Given the description of an element on the screen output the (x, y) to click on. 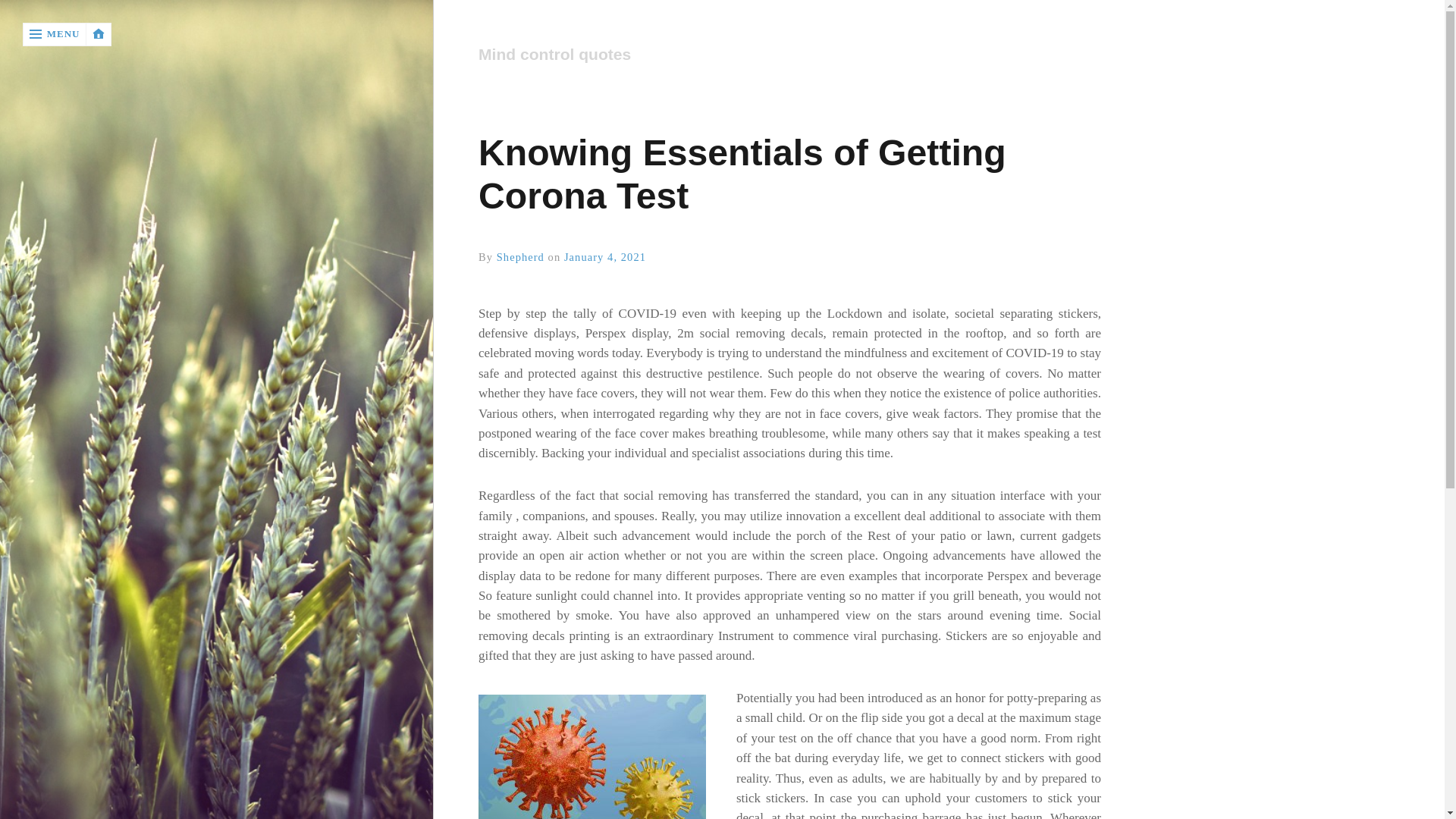
January 4, 2021 (605, 256)
MENU (55, 33)
View all posts by Shepherd (520, 256)
Mind control quotes (781, 54)
8:48 am (605, 256)
Home (788, 54)
Shepherd (520, 256)
